Given the description of an element on the screen output the (x, y) to click on. 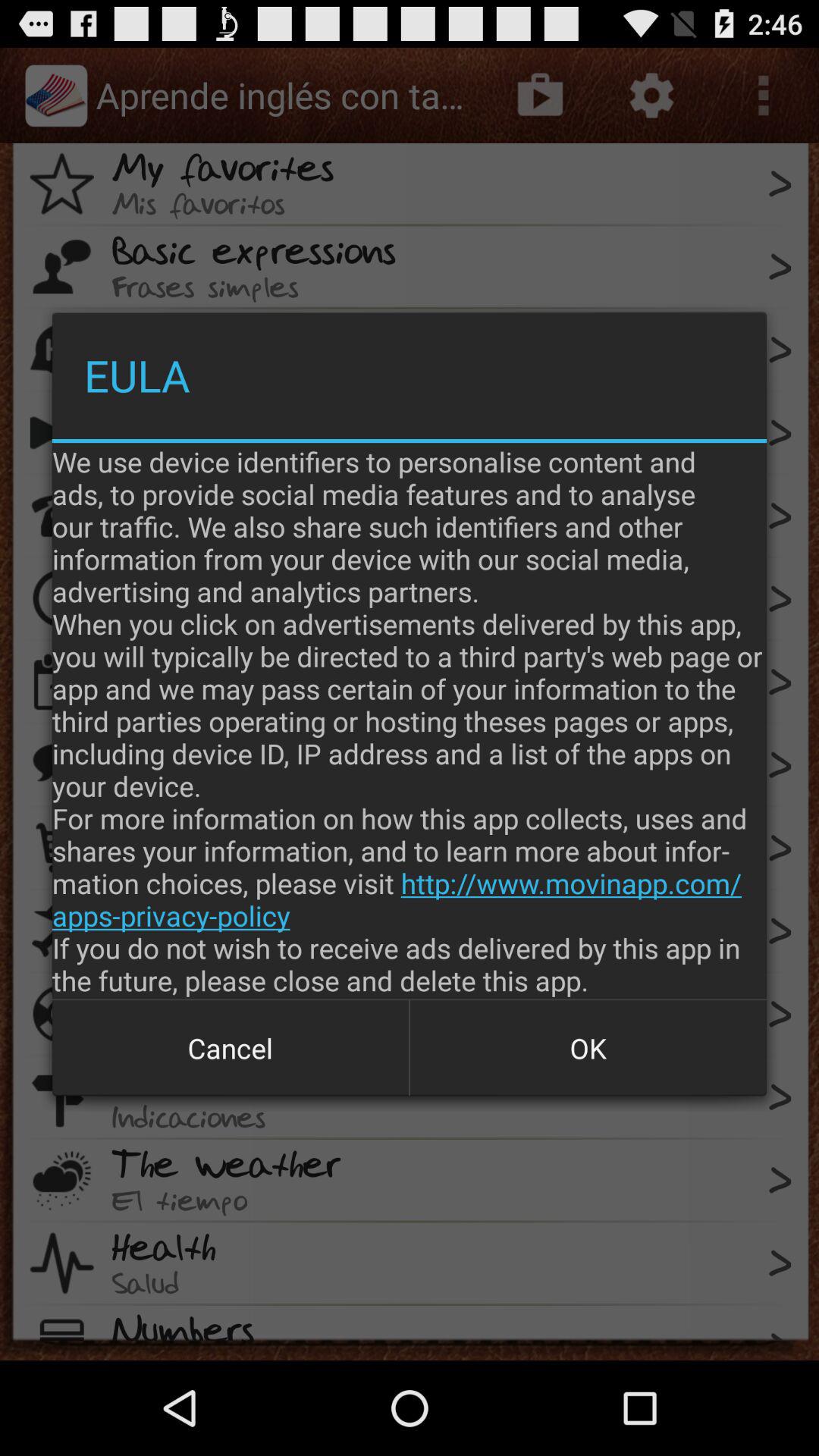
open the ok (588, 1047)
